Given the description of an element on the screen output the (x, y) to click on. 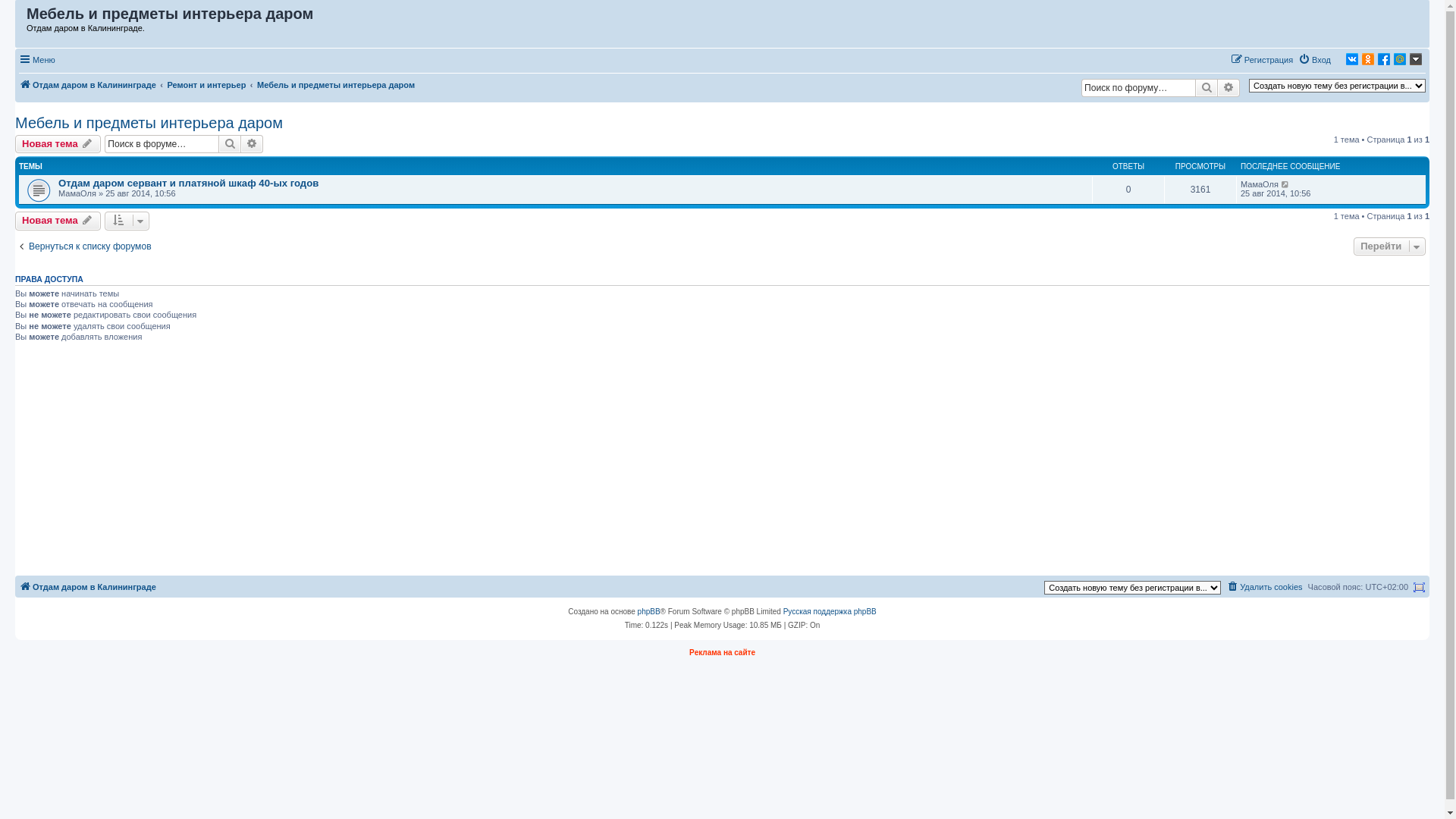
Mail.ru Element type: hover (1399, 59)
Advertisement Element type: hover (470, 460)
Facebook Element type: hover (1383, 59)
VK Element type: hover (1352, 59)
Odnoklassniki Element type: hover (1367, 59)
phpBB Element type: text (648, 611)
